Given the description of an element on the screen output the (x, y) to click on. 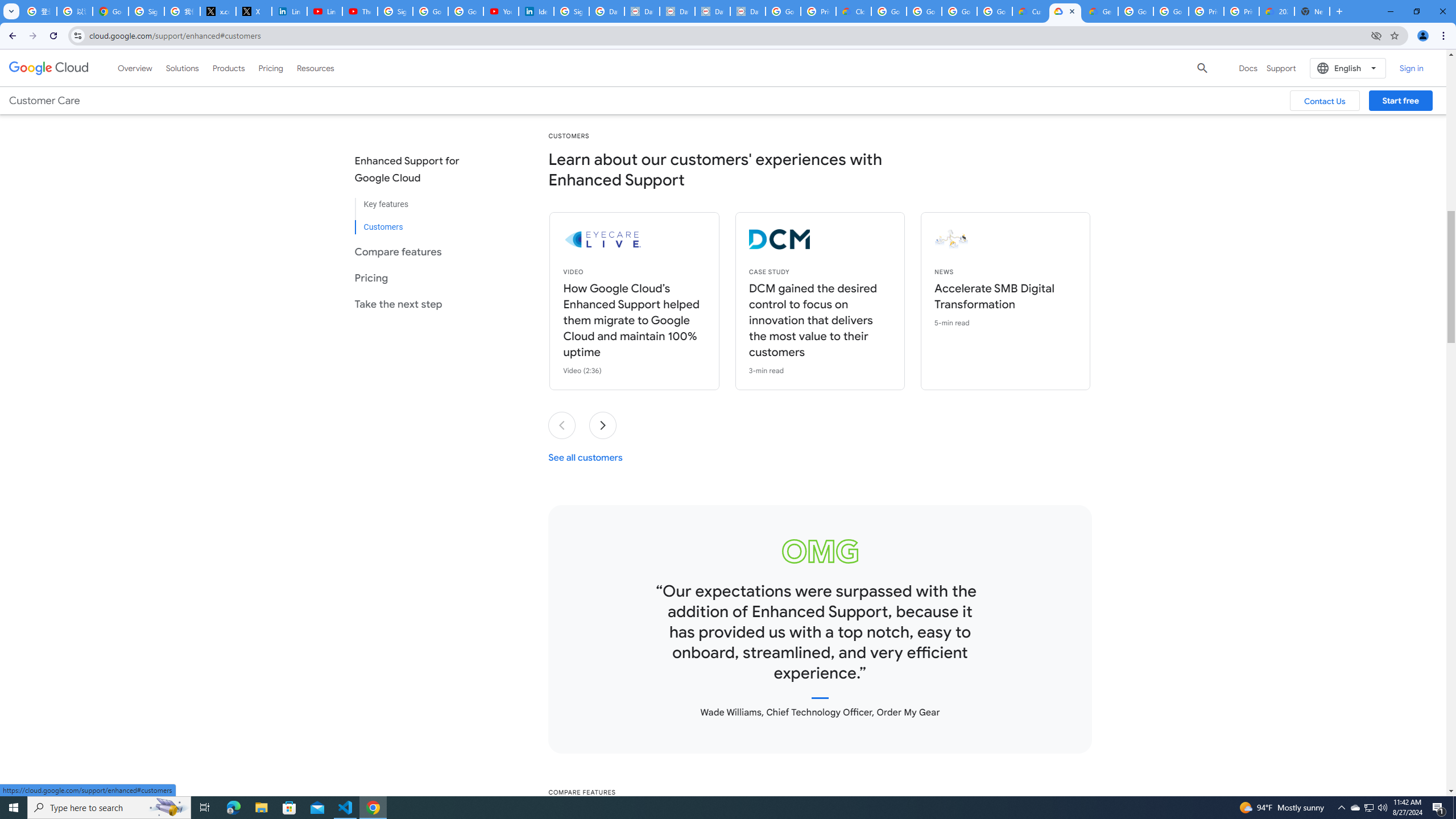
Pricing (270, 67)
omg logo (820, 550)
Contact Us (1324, 100)
eyecarelive logo (664, 239)
New Tab (1312, 11)
Sign in - Google Accounts (394, 11)
Data Privacy Framework (712, 11)
